Given the description of an element on the screen output the (x, y) to click on. 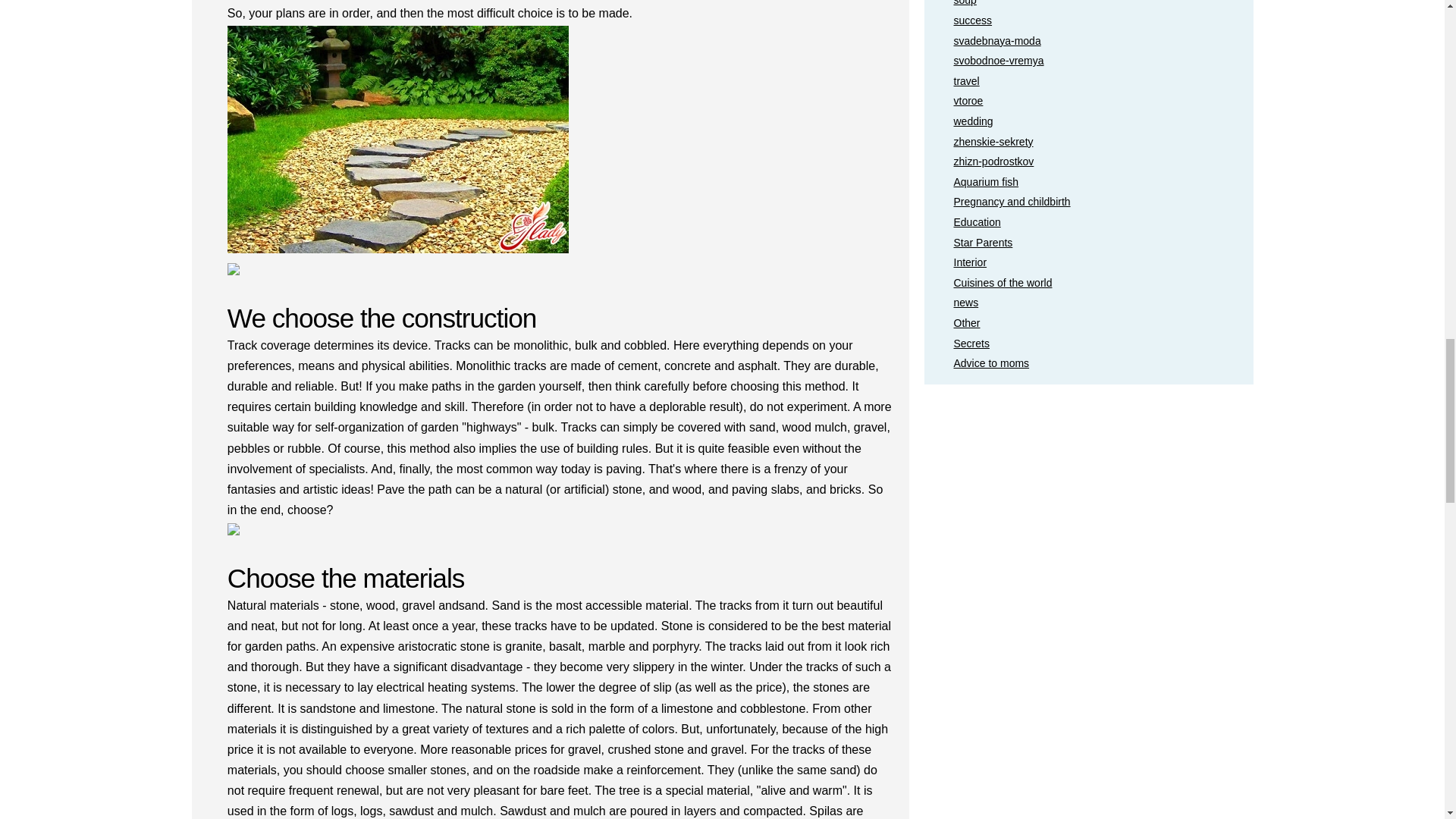
beautiful paths in the garden with your own hands (398, 142)
